Given the description of an element on the screen output the (x, y) to click on. 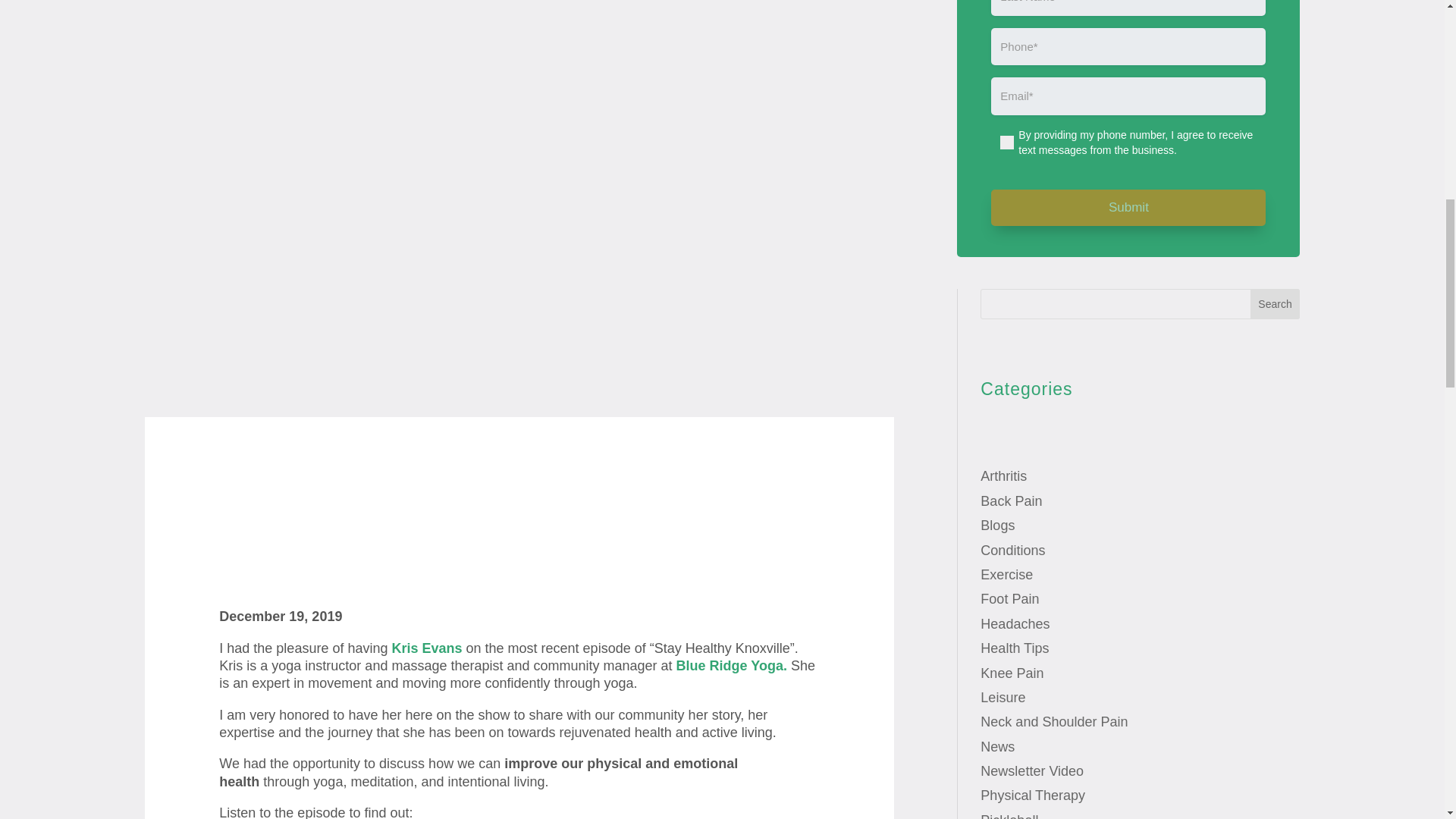
Submit (1128, 207)
SHK 015:  (518, 531)
